Given the description of an element on the screen output the (x, y) to click on. 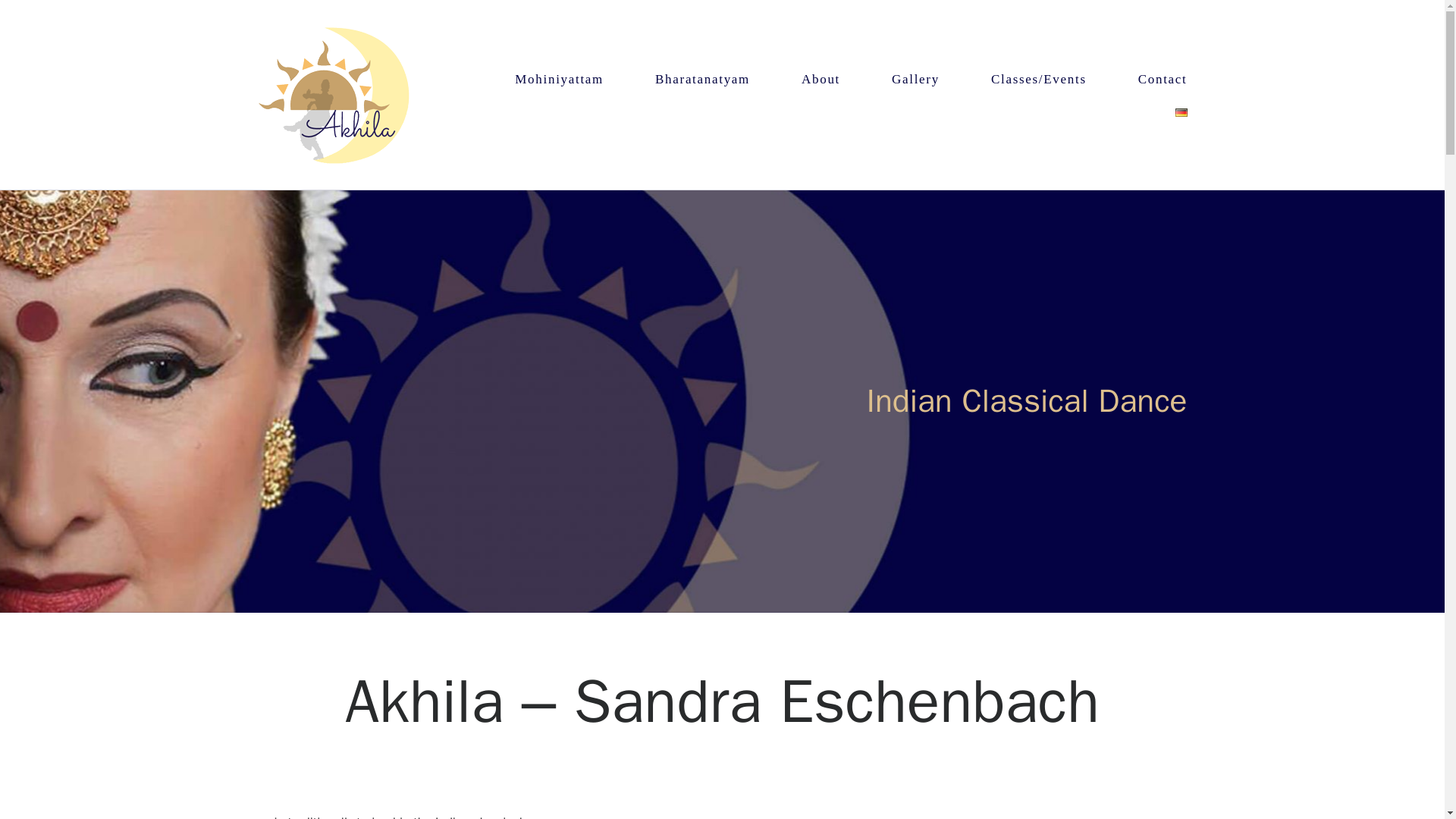
Mohiniyattam (559, 79)
Gallery (915, 79)
About (821, 79)
Bharatanatyam (702, 79)
Contact (1163, 79)
